Given the description of an element on the screen output the (x, y) to click on. 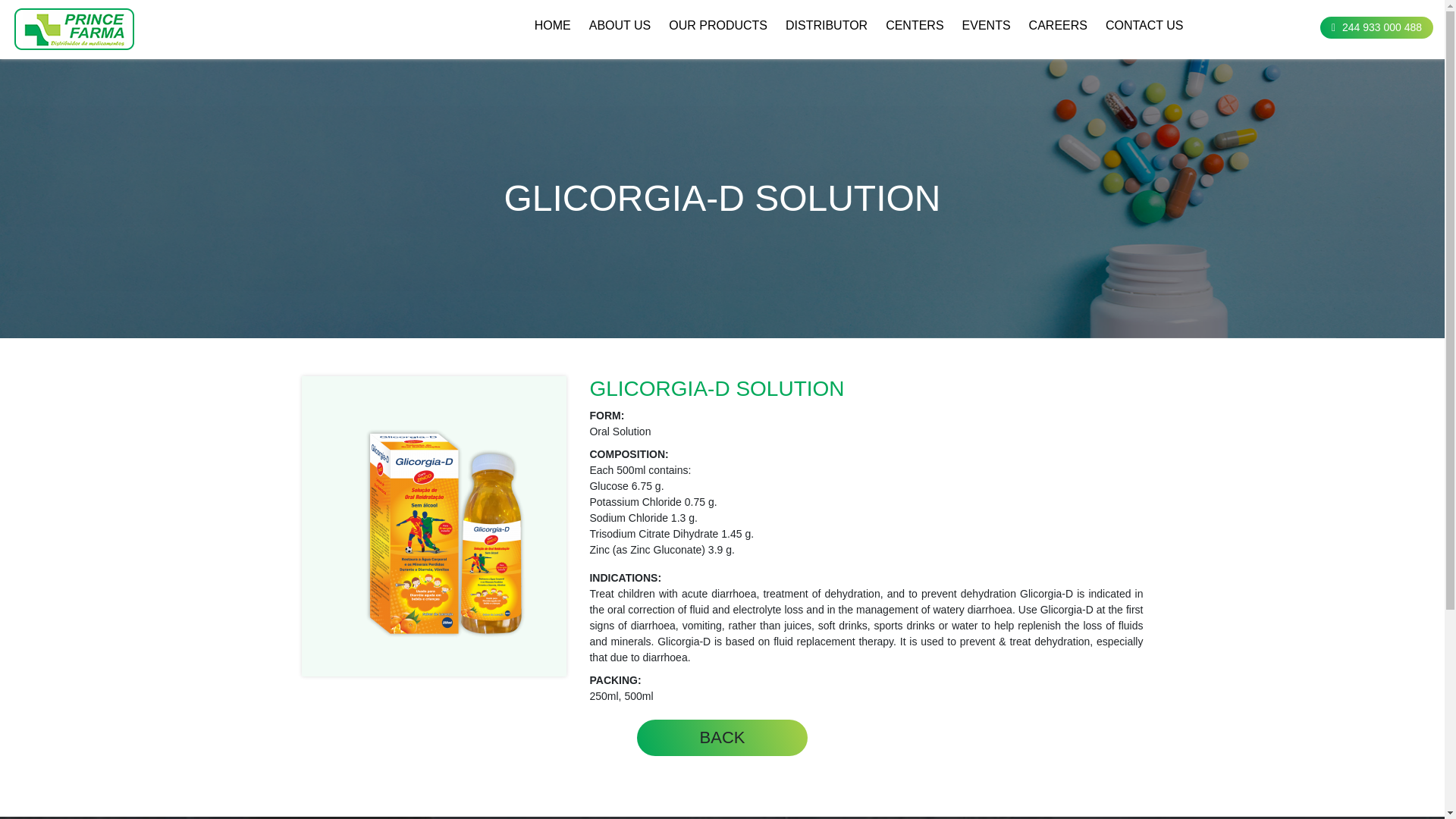
BACK (722, 737)
HOME (552, 25)
OUR PRODUCTS (717, 25)
EVENTS (986, 25)
CAREERS (1058, 25)
CENTERS (914, 25)
ABOUT US (619, 25)
244 933 000 488 (1376, 27)
DISTRIBUTOR (826, 25)
CONTACT US (1144, 25)
